Given the description of an element on the screen output the (x, y) to click on. 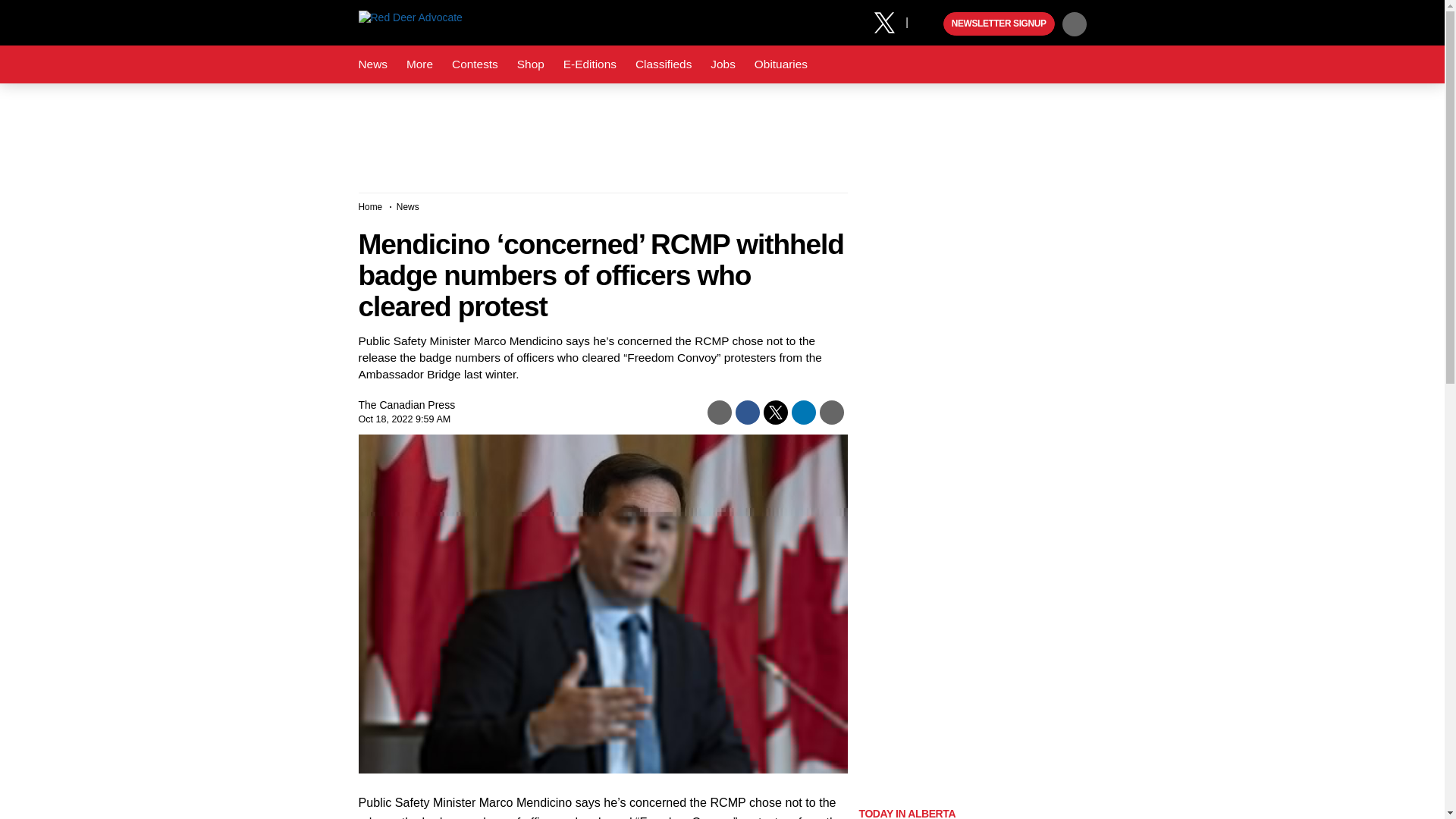
Play (929, 24)
NEWSLETTER SIGNUP (998, 24)
News (372, 64)
Black Press Media (929, 24)
X (889, 21)
